Given the description of an element on the screen output the (x, y) to click on. 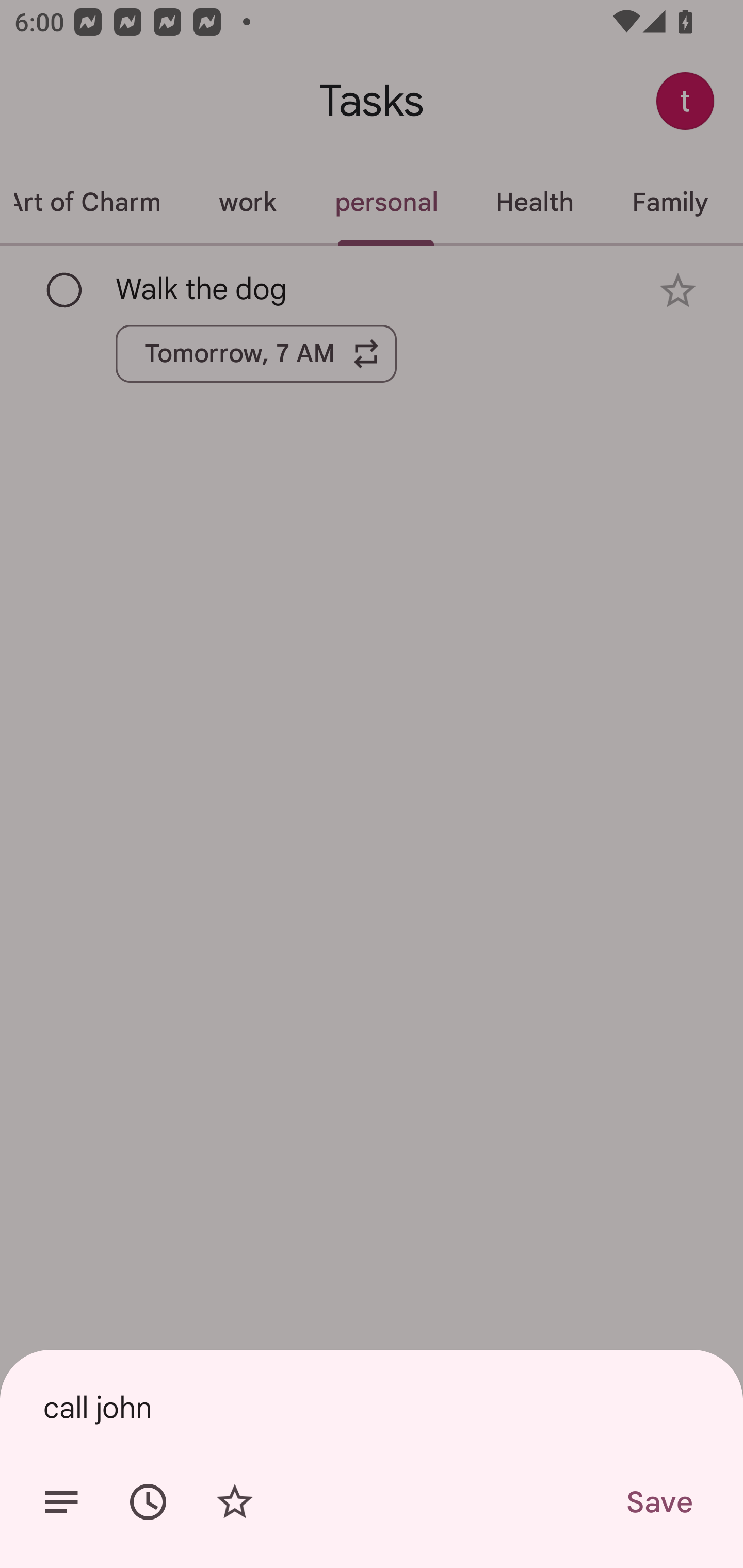
call john (371, 1407)
Save (659, 1501)
Add details (60, 1501)
Set date/time (147, 1501)
Add star (234, 1501)
